Given the description of an element on the screen output the (x, y) to click on. 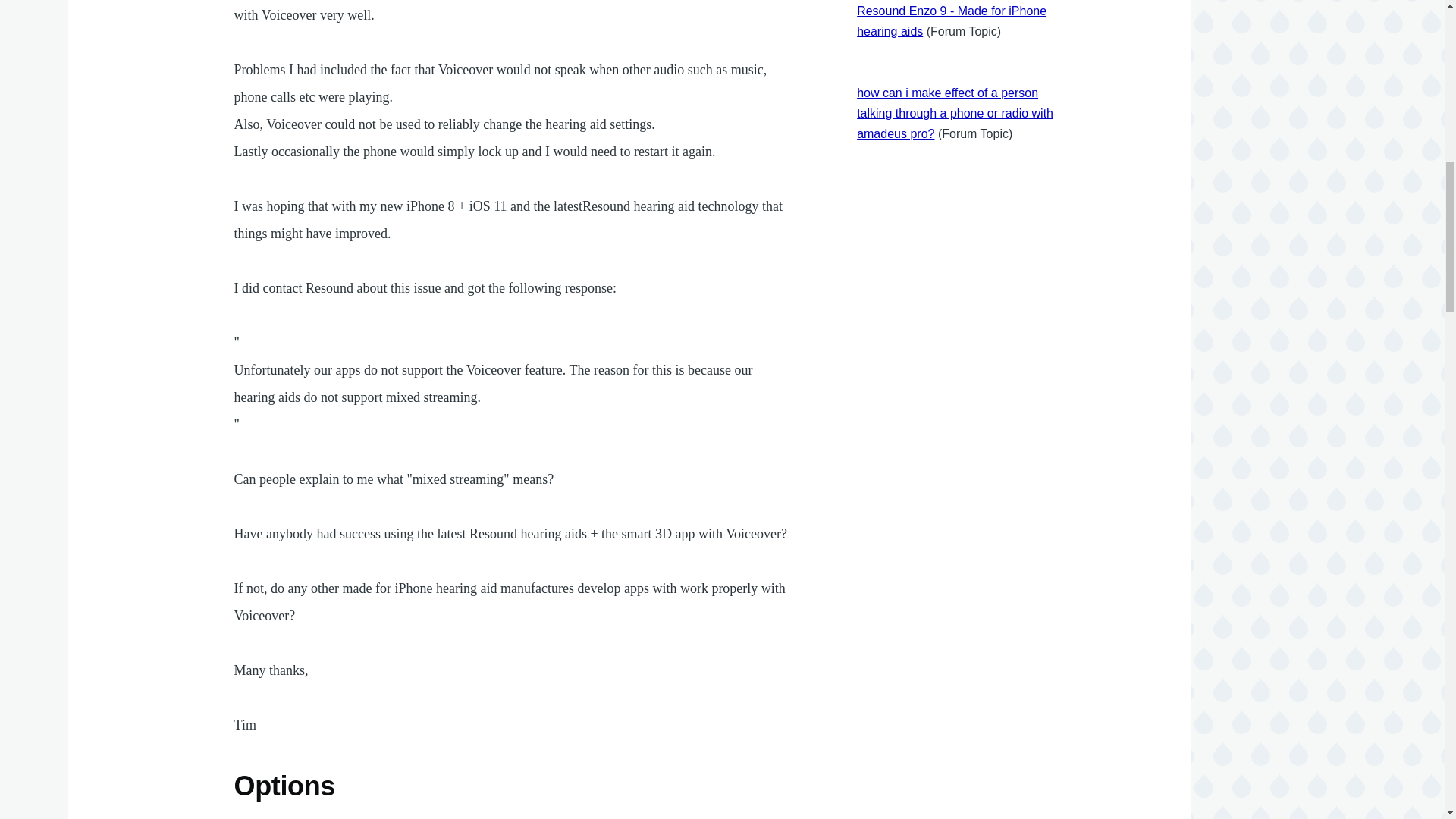
Resound Enzo 9 - Made for iPhone hearing aids (951, 20)
